Given the description of an element on the screen output the (x, y) to click on. 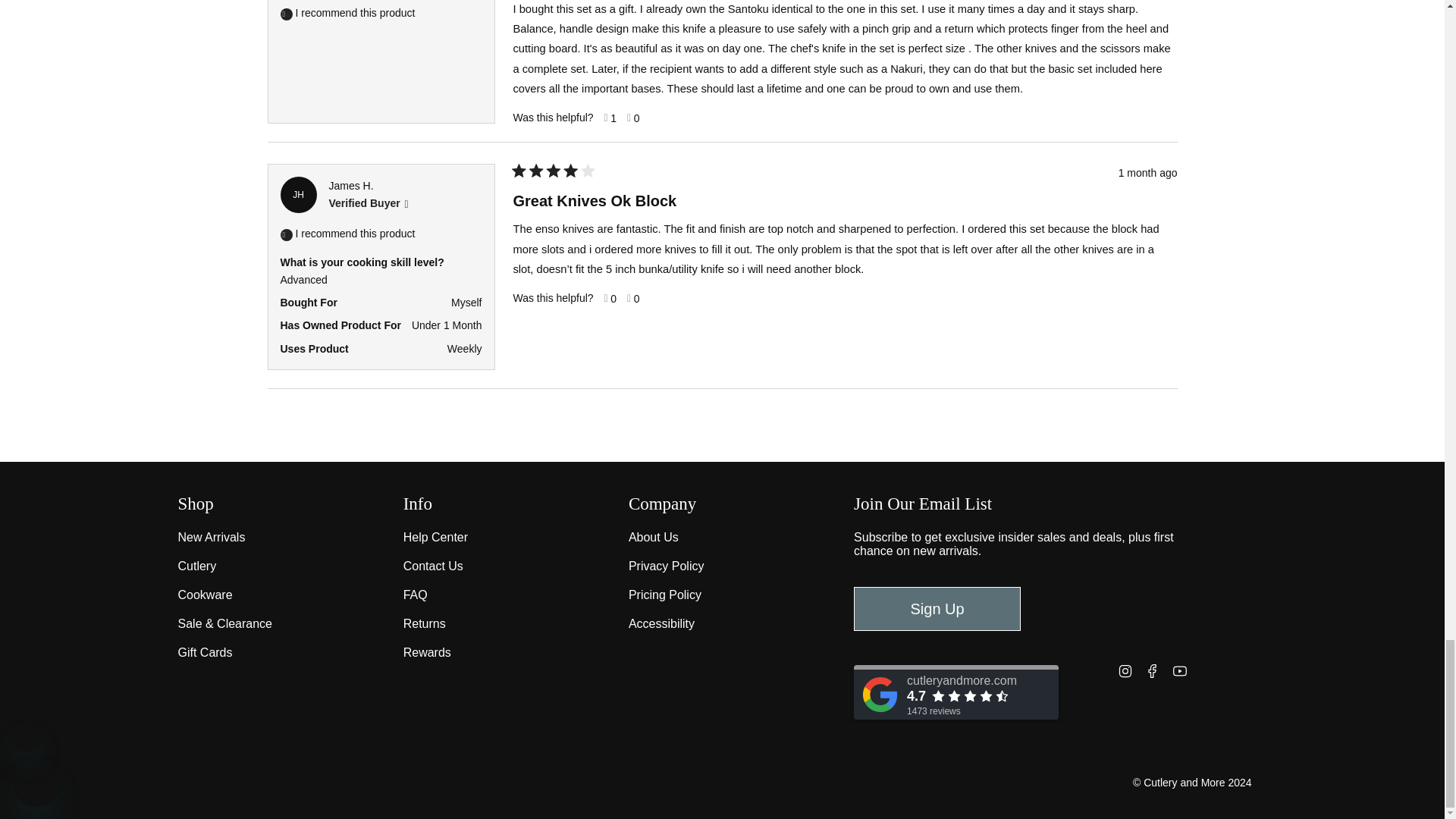
Cutlery and More on Facebook (1152, 669)
Cutlery and More on YouTube (1180, 669)
Cutlery and More on Instagram (1125, 669)
